Given the description of an element on the screen output the (x, y) to click on. 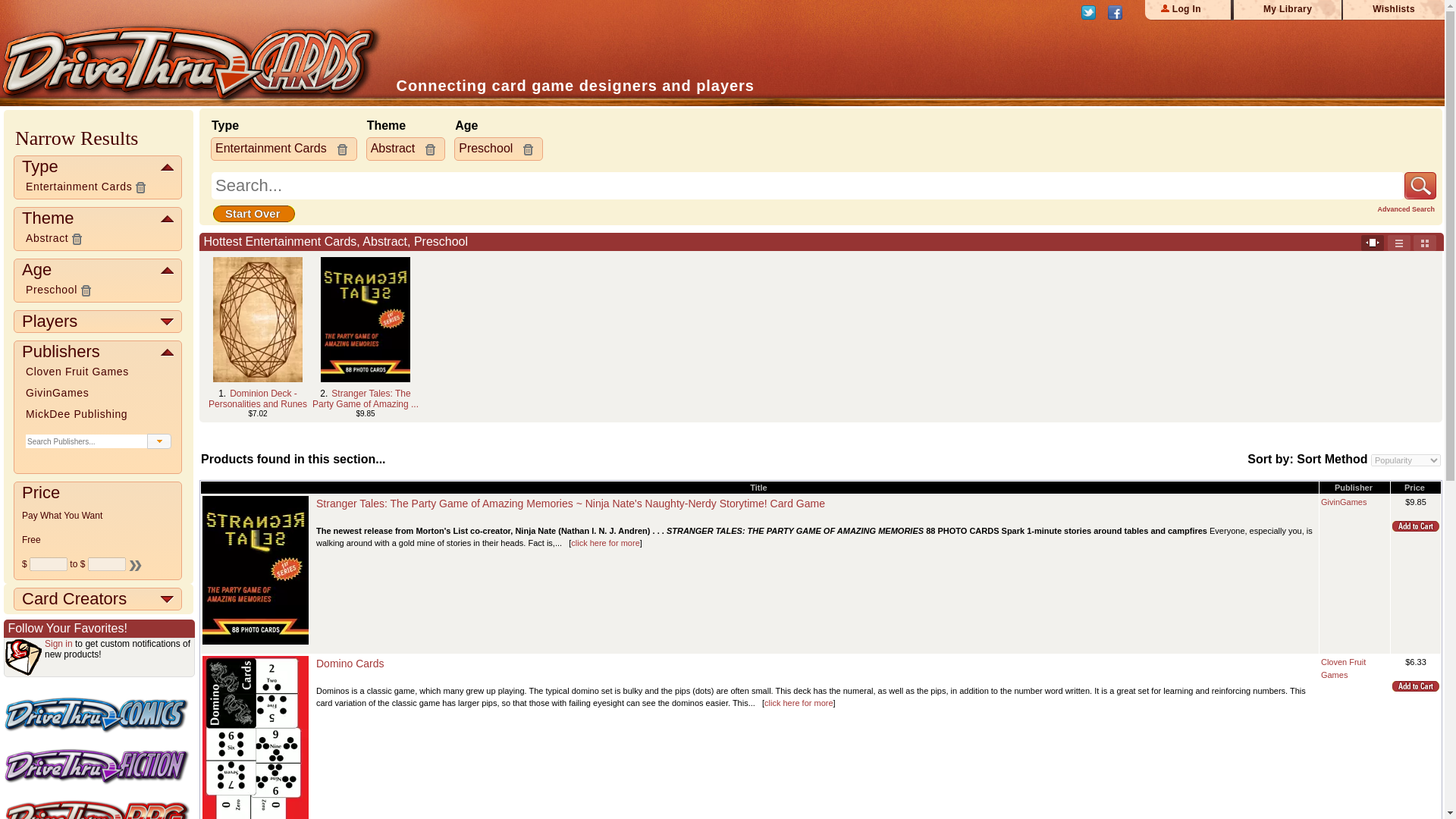
Entertainment Cards (79, 186)
Remove Filter (85, 290)
Facebook (1118, 15)
Cloven Fruit Games (77, 371)
Free (30, 539)
Remove Filter (76, 238)
DriveThruFiction (96, 766)
Twitter (1091, 15)
MickDee Publishing (77, 413)
Preschool (51, 289)
